Given the description of an element on the screen output the (x, y) to click on. 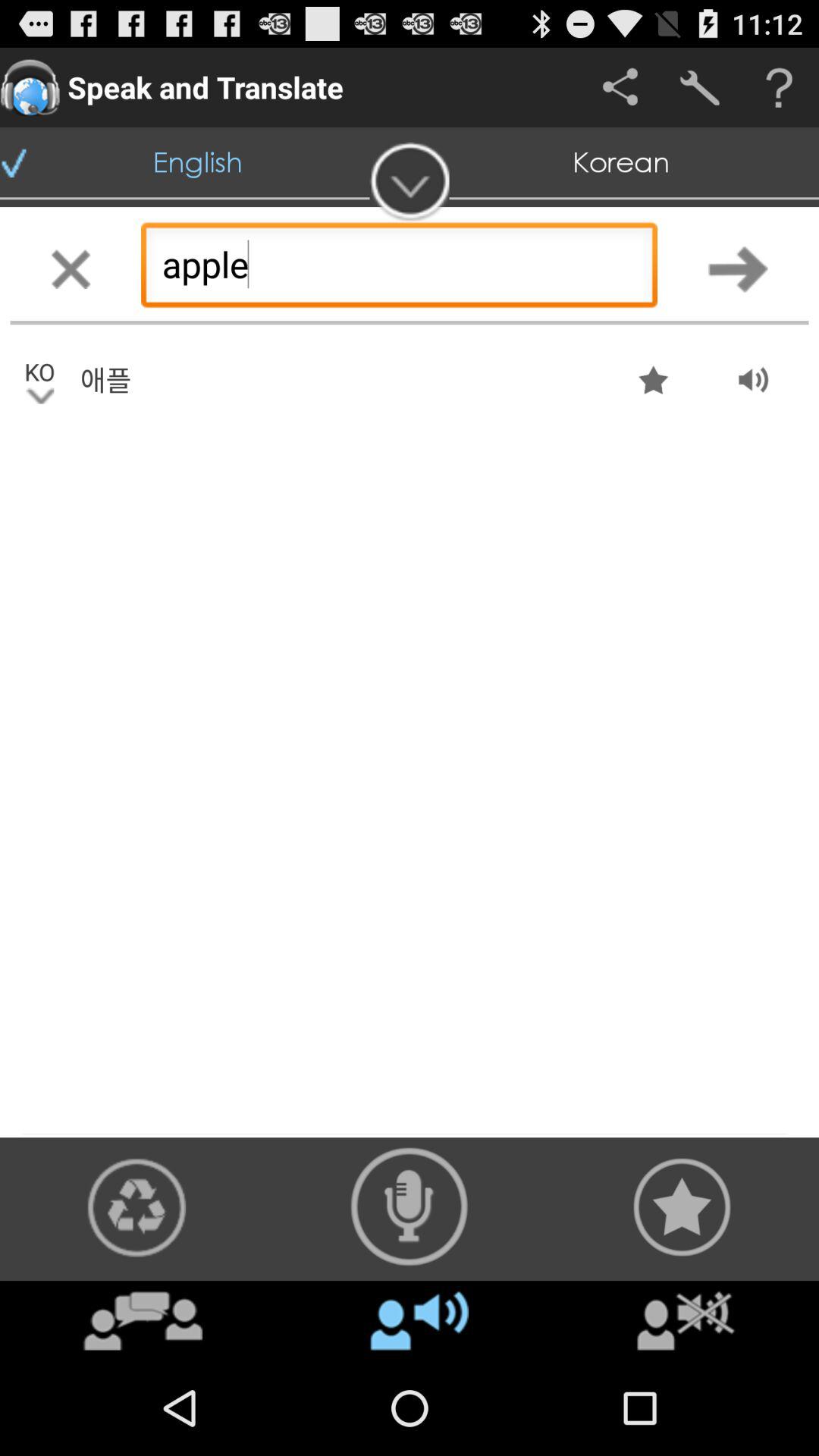
erase (70, 268)
